Given the description of an element on the screen output the (x, y) to click on. 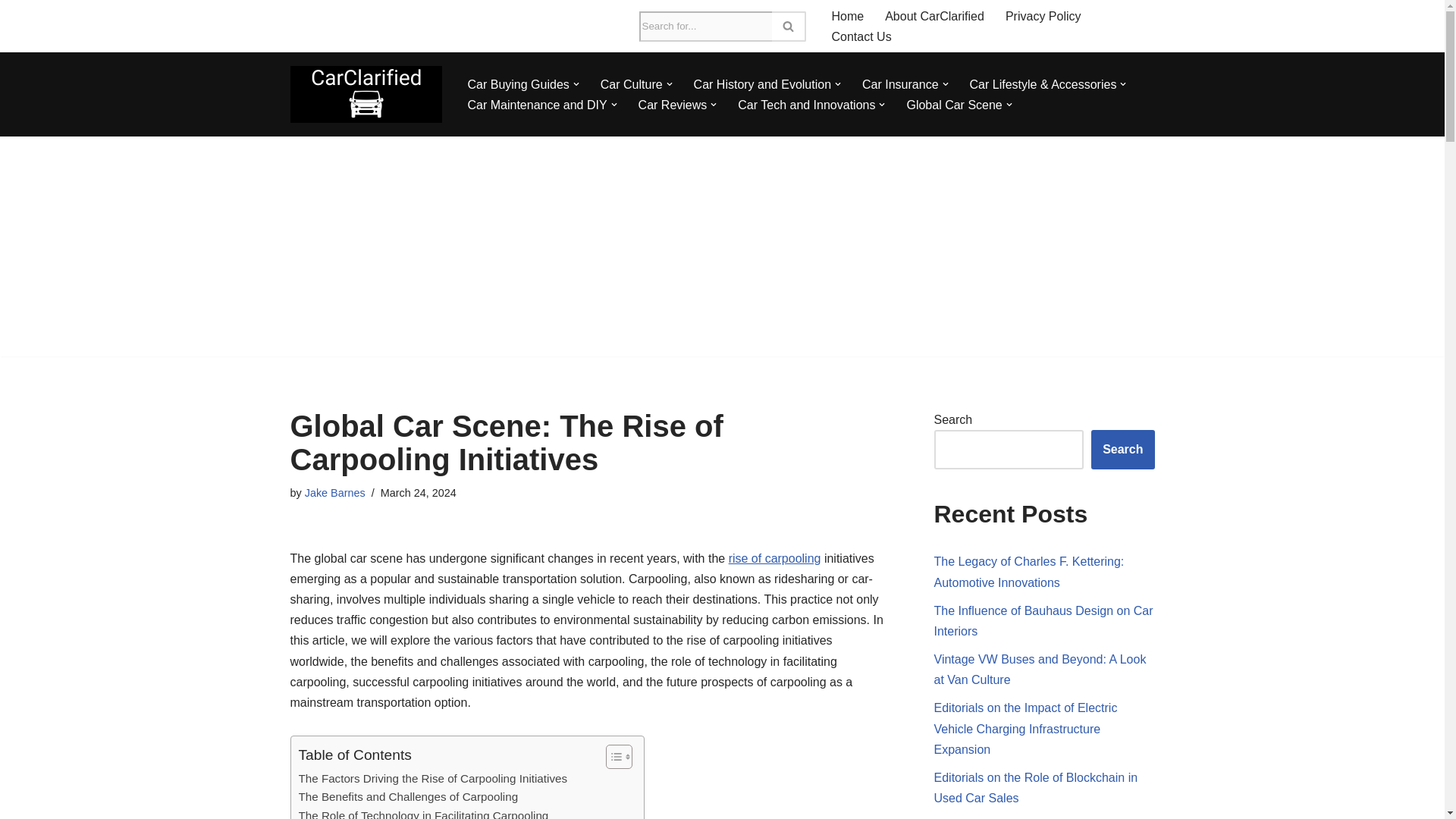
The Benefits and Challenges of Carpooling (408, 796)
Home (847, 15)
The Role of Technology in Facilitating Carpooling (423, 812)
Car Insurance (900, 84)
About CarClarified (934, 15)
Skip to content (11, 31)
The Factors Driving the Rise of Carpooling Initiatives (432, 778)
Contact Us (861, 36)
Car Maintenance and DIY (537, 105)
Car Culture (630, 84)
Car History and Evolution (762, 84)
Posts by Jake Barnes (334, 492)
Privacy Policy (1043, 15)
Car Buying Guides (518, 84)
